Given the description of an element on the screen output the (x, y) to click on. 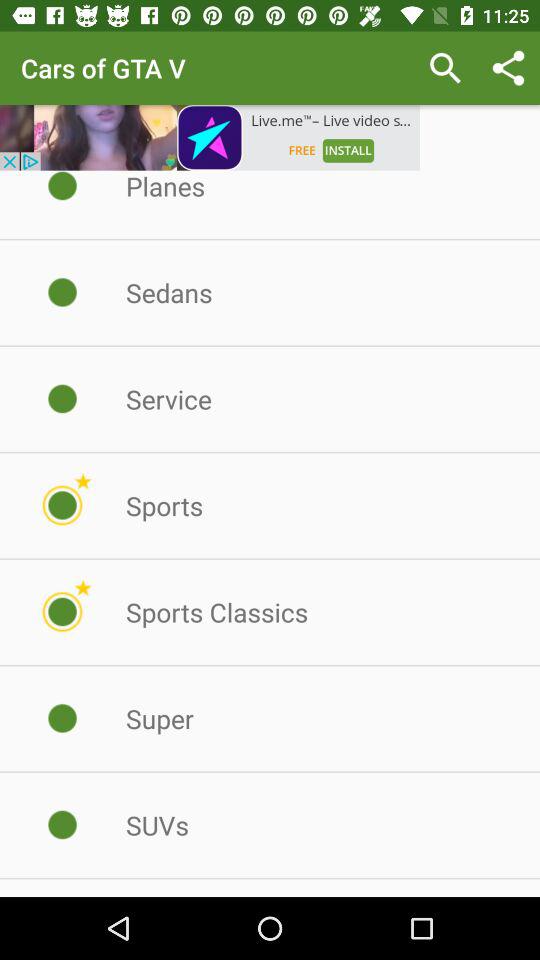
advertisement (210, 137)
